Given the description of an element on the screen output the (x, y) to click on. 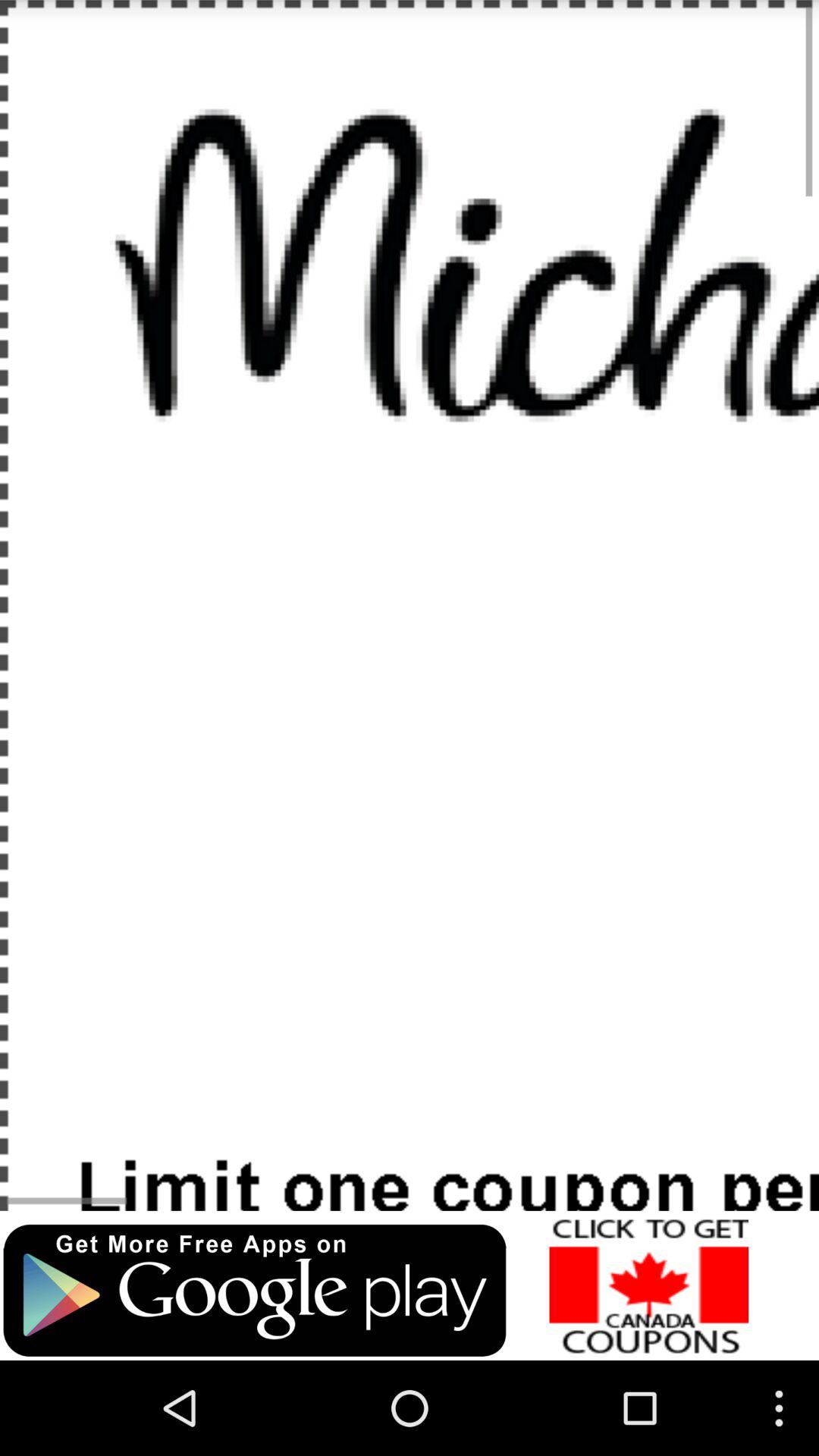
purchase coupons (648, 1285)
